Given the description of an element on the screen output the (x, y) to click on. 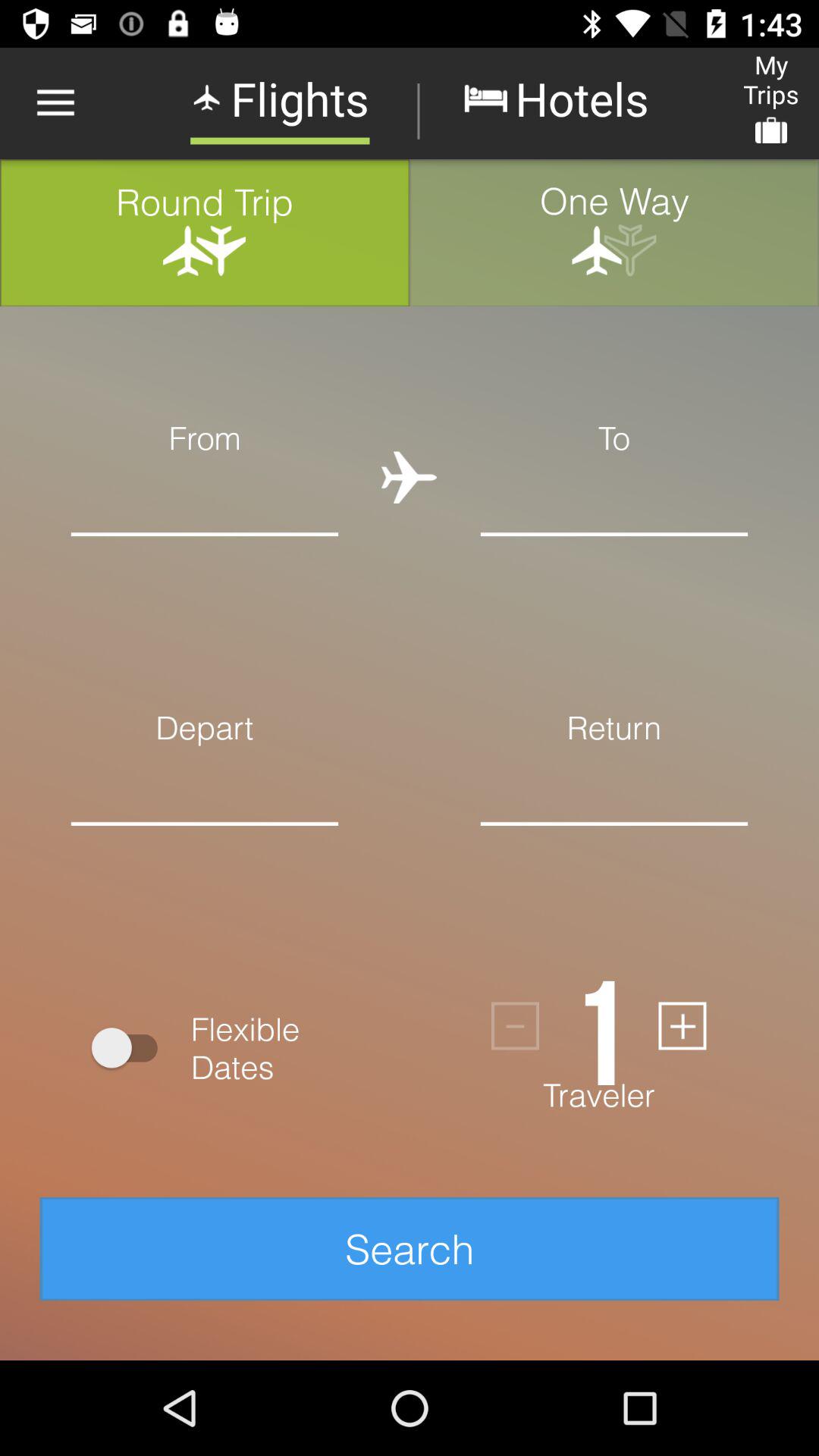
press the item to the left of the flexible
dates item (131, 1047)
